Given the description of an element on the screen output the (x, y) to click on. 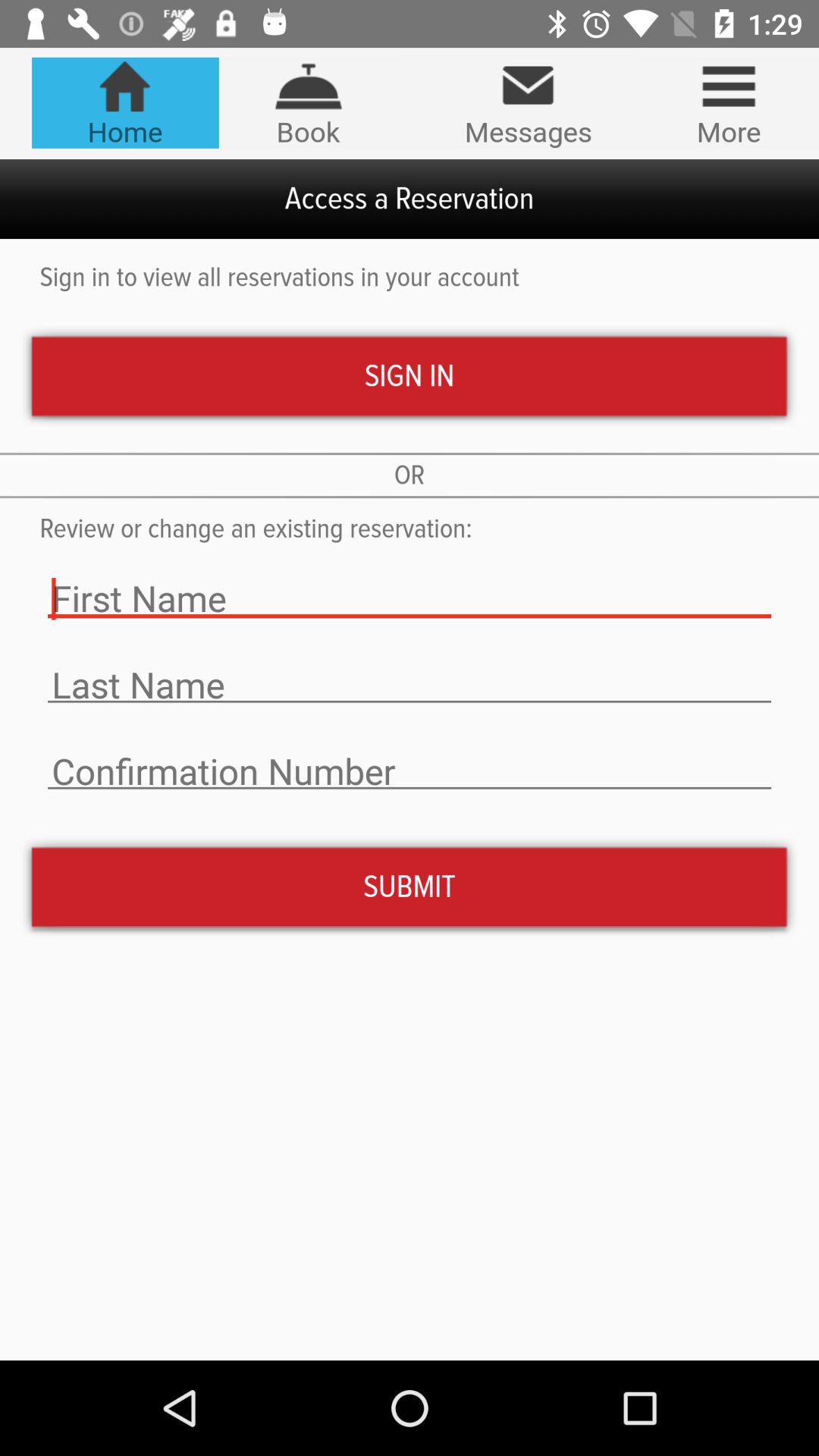
tap the icon above the access a reservation (124, 102)
